Given the description of an element on the screen output the (x, y) to click on. 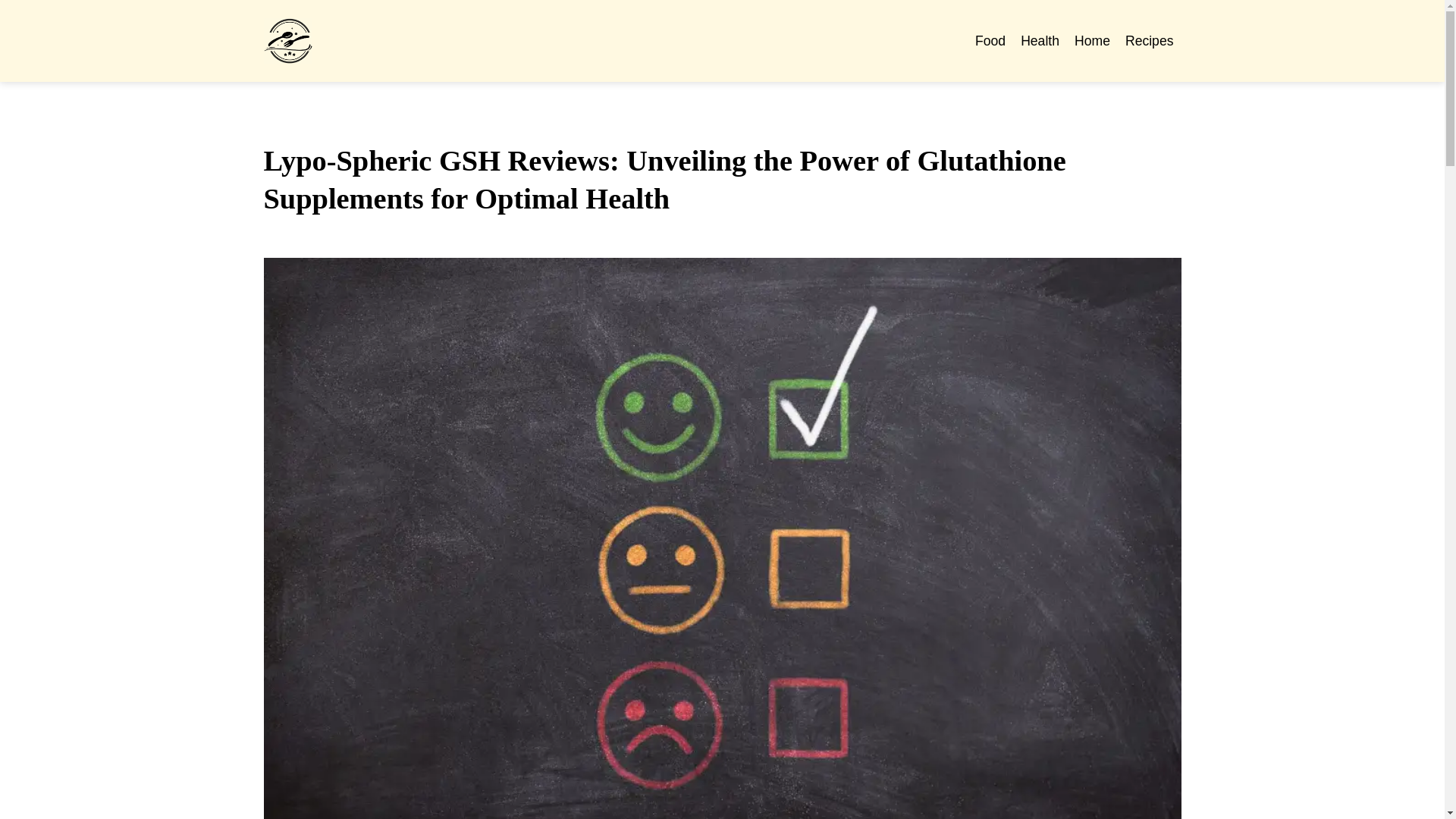
Health (1040, 40)
Home (1092, 40)
Food (990, 40)
Recipes (1149, 40)
